Given the description of an element on the screen output the (x, y) to click on. 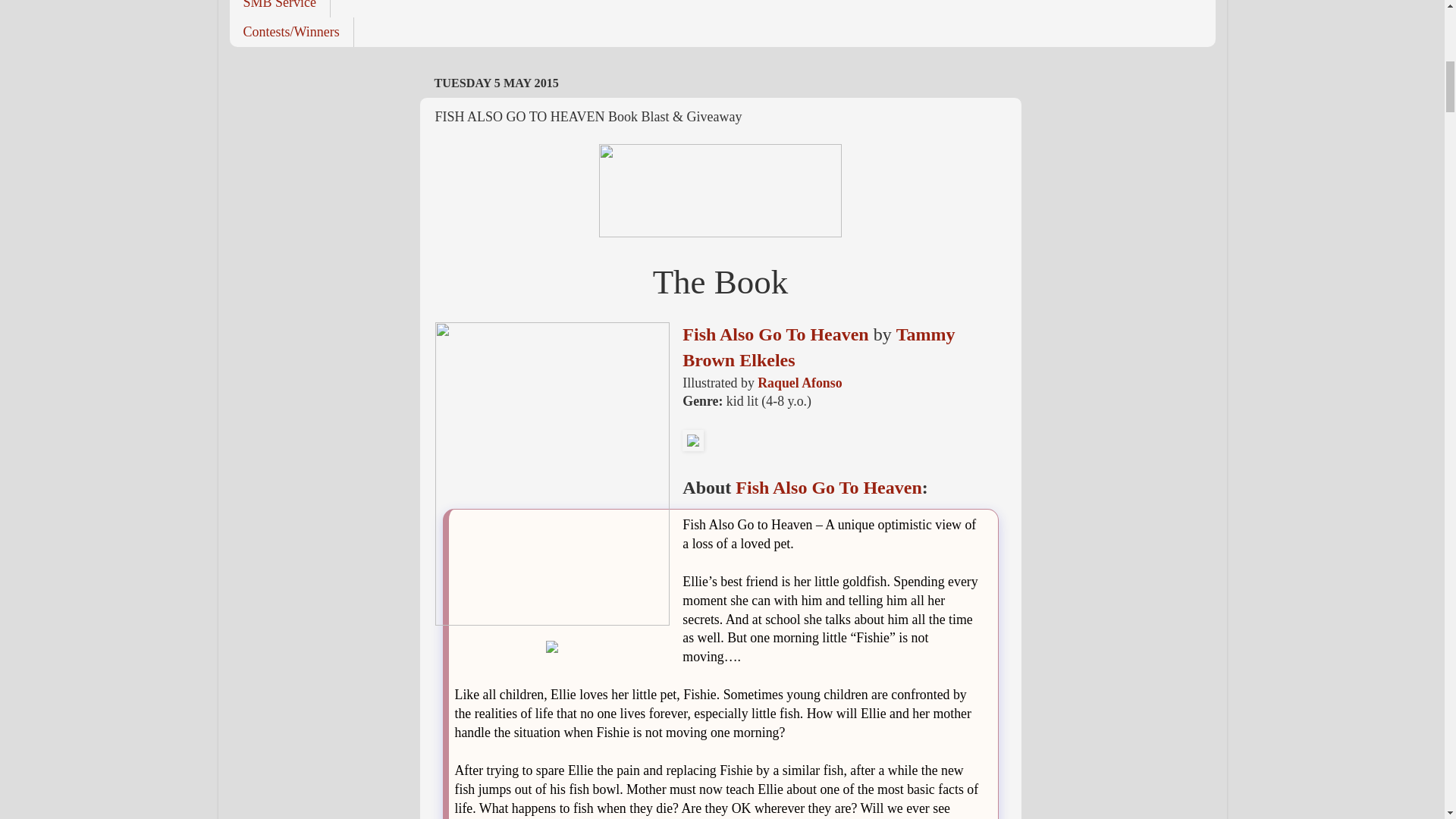
Fish Also Go To Heaven (828, 487)
SMB Service (279, 8)
Fish Also Go To Heaven (774, 333)
Raquel Afonso (799, 382)
Tammy Brown Elkeles (818, 347)
